Given the description of an element on the screen output the (x, y) to click on. 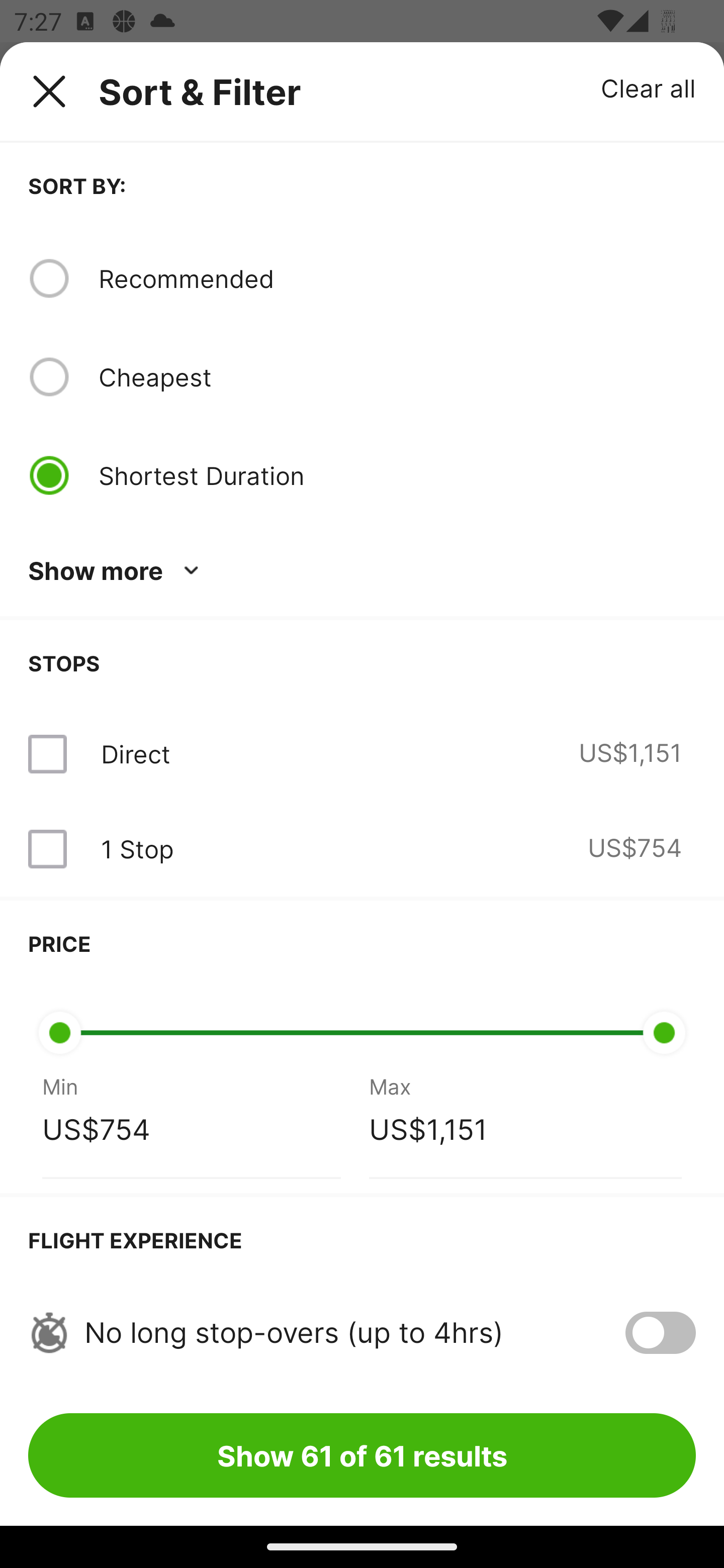
Clear all (648, 87)
Recommended  (396, 278)
Cheapest (396, 377)
Shortest Duration (396, 474)
Show more (116, 570)
Direct US$1,151 (362, 754)
Direct (135, 753)
1 Stop US$754 (362, 848)
1 Stop (136, 849)
Show 61 of 61 results (361, 1454)
